Given the description of an element on the screen output the (x, y) to click on. 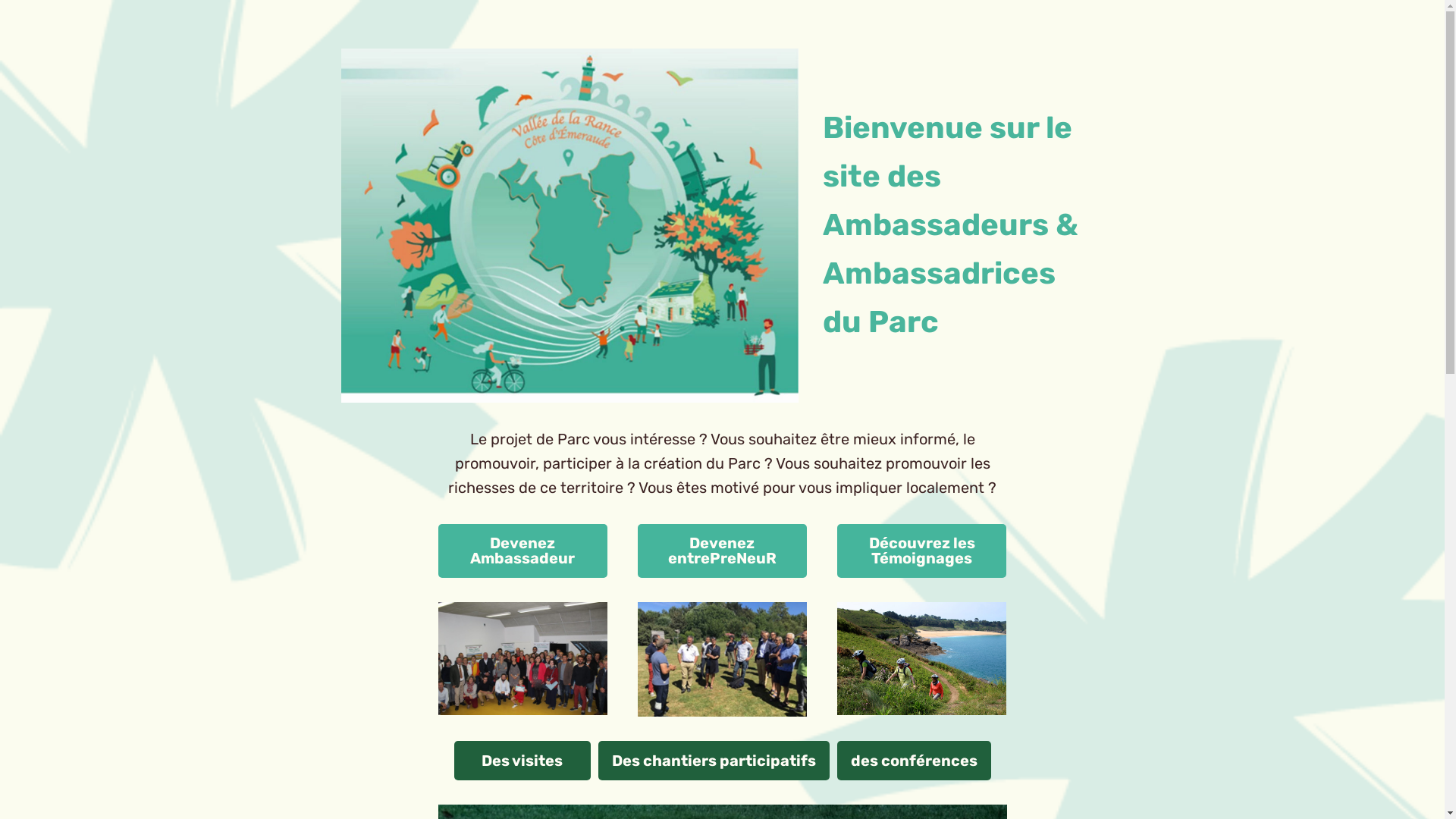
Devenez entrePreNeuR Element type: text (721, 550)
Devenez Ambassadeur Element type: text (522, 550)
Des visites Element type: text (521, 759)
Des chantiers participatifs Element type: text (712, 759)
